Given the description of an element on the screen output the (x, y) to click on. 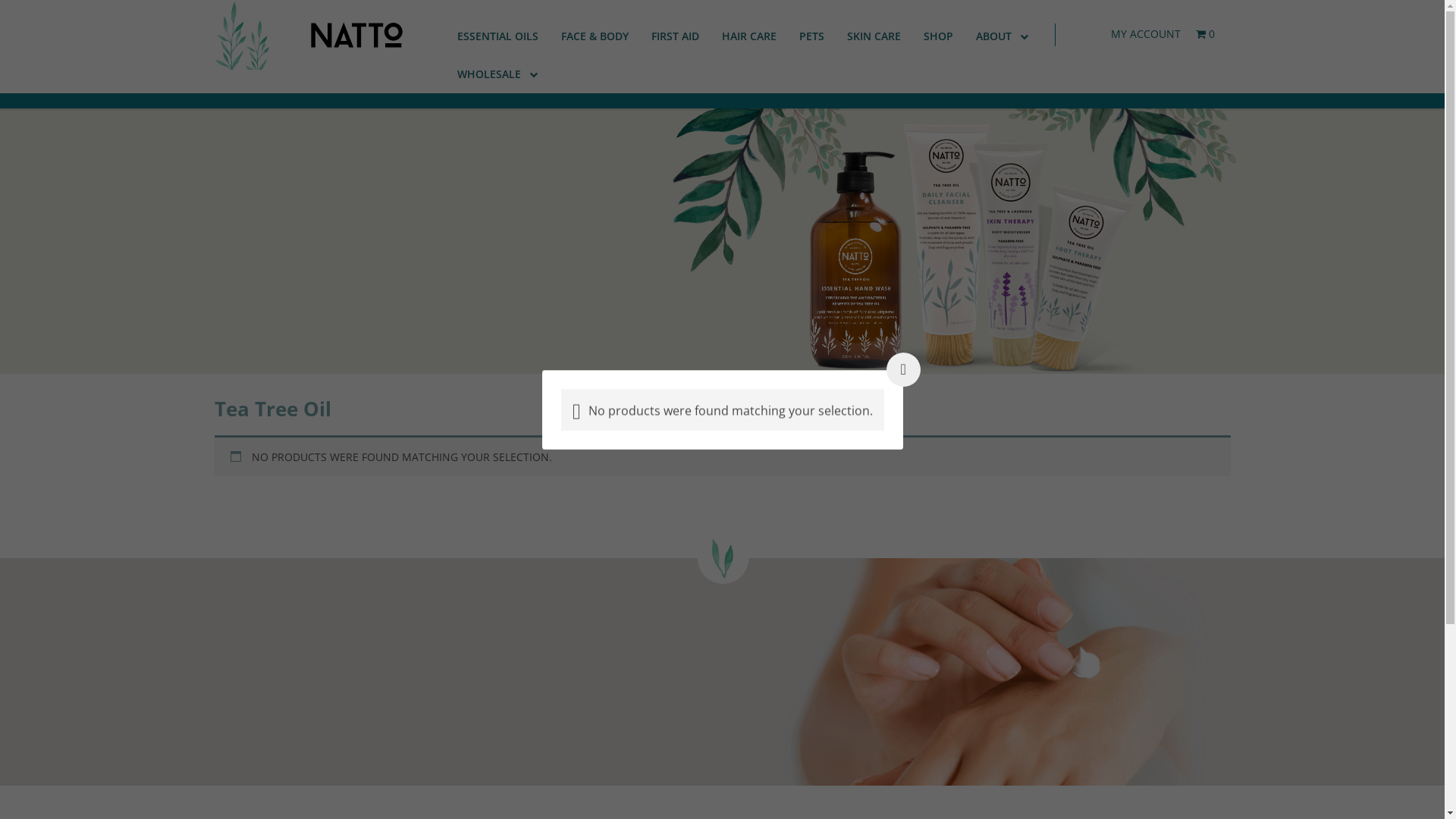
0 Element type: text (1204, 33)
FACE & BODY Element type: text (594, 36)
MY ACCOUNT Element type: text (1145, 33)
FIRST AID Element type: text (675, 36)
WHOLESALE Element type: text (497, 74)
SHOP Element type: text (938, 36)
SKIN CARE Element type: text (873, 36)
ESSENTIAL OILS Element type: text (497, 36)
Dismiss Element type: text (836, 21)
HAIR CARE Element type: text (748, 36)
PETS Element type: text (811, 36)
ABOUT Element type: text (1001, 36)
